Given the description of an element on the screen output the (x, y) to click on. 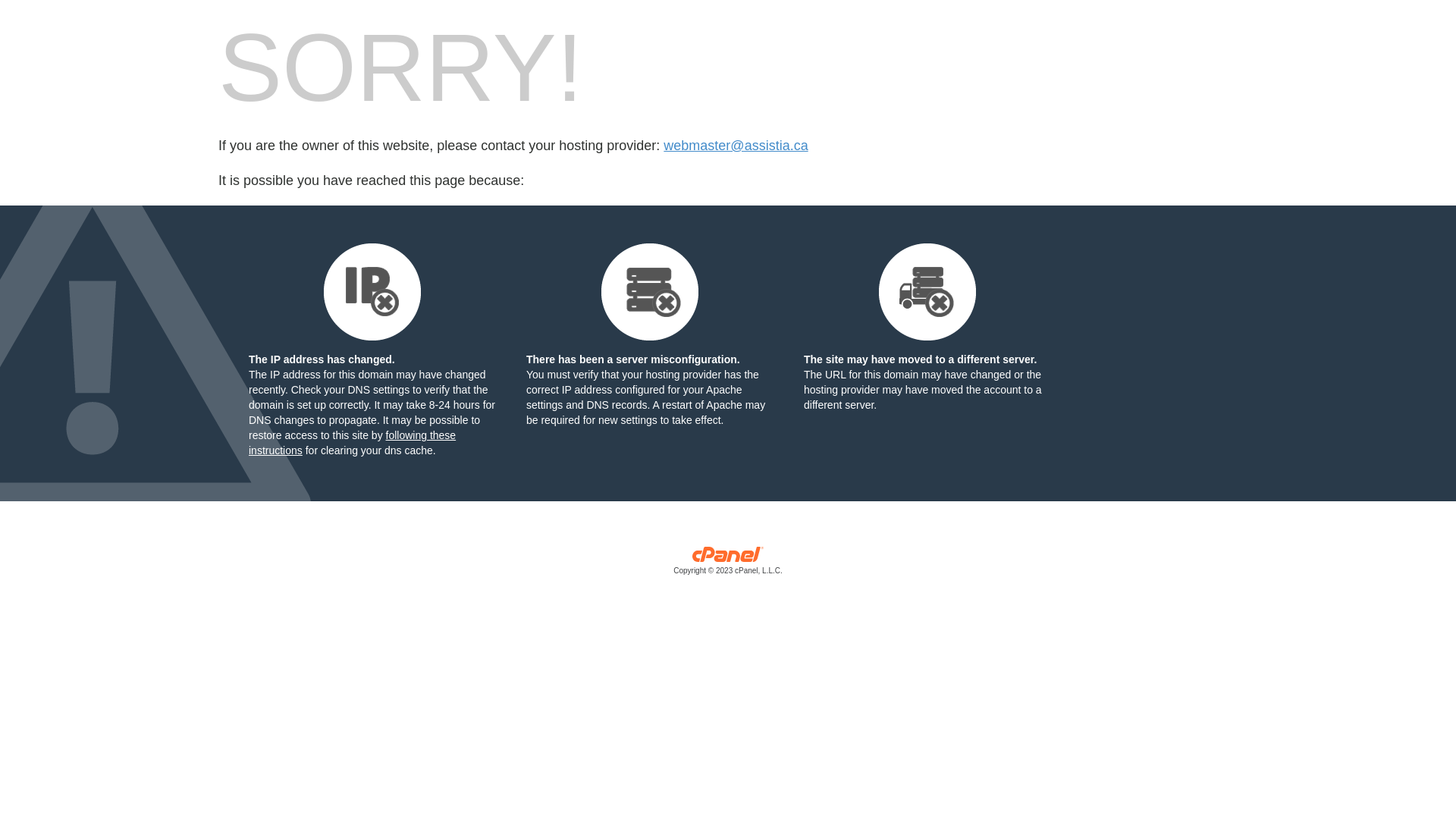
following these instructions Element type: text (351, 442)
webmaster@assistia.ca Element type: text (735, 145)
